Given the description of an element on the screen output the (x, y) to click on. 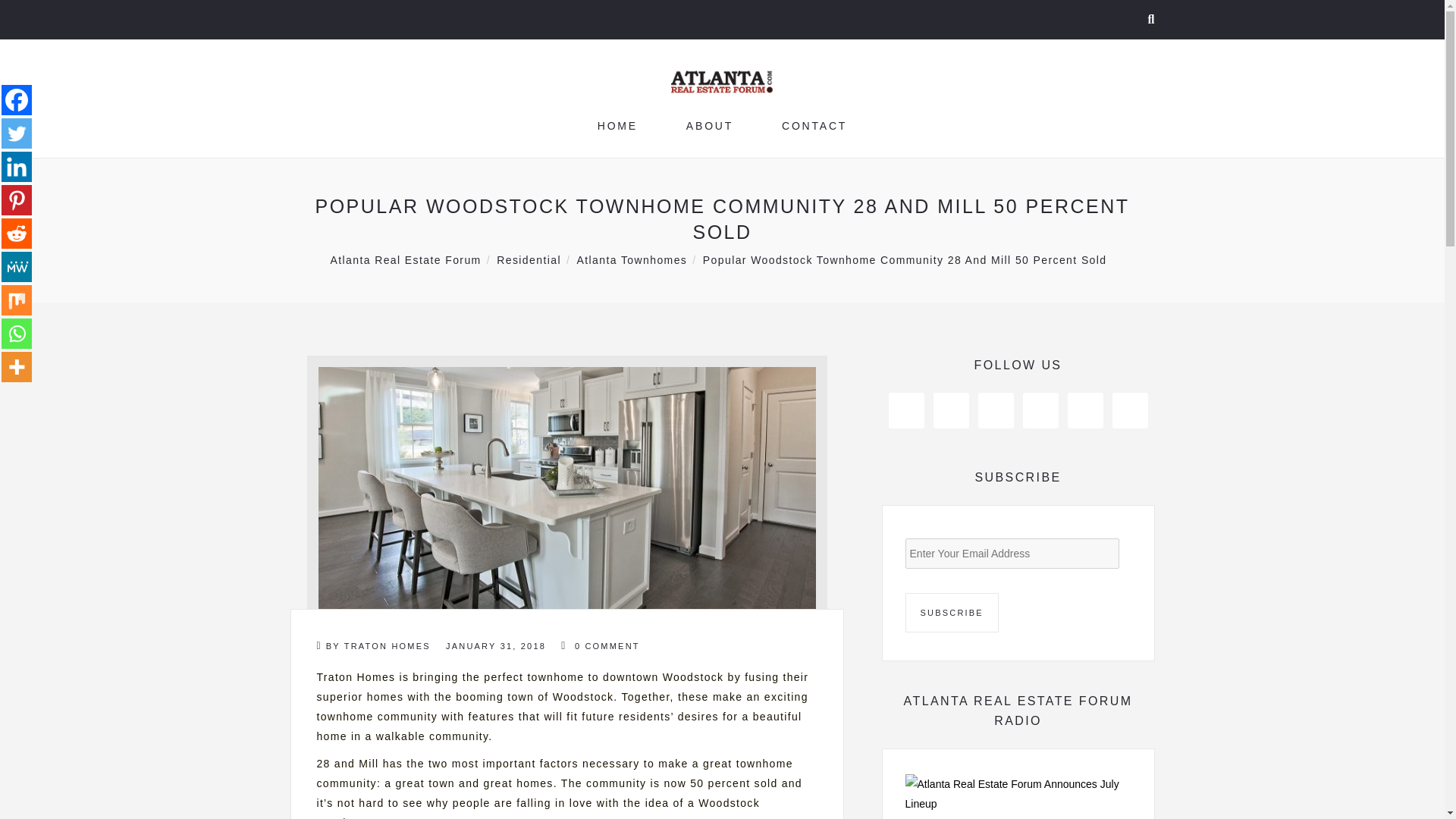
ABOUT (709, 125)
Residential (528, 259)
Go to the Residential Category archives. (528, 259)
Facebook (16, 100)
0 COMMENT (599, 646)
MeWe (16, 266)
Home (616, 125)
Linkedin (16, 166)
BY TRATON HOMES (373, 646)
Subscribe (951, 612)
